Given the description of an element on the screen output the (x, y) to click on. 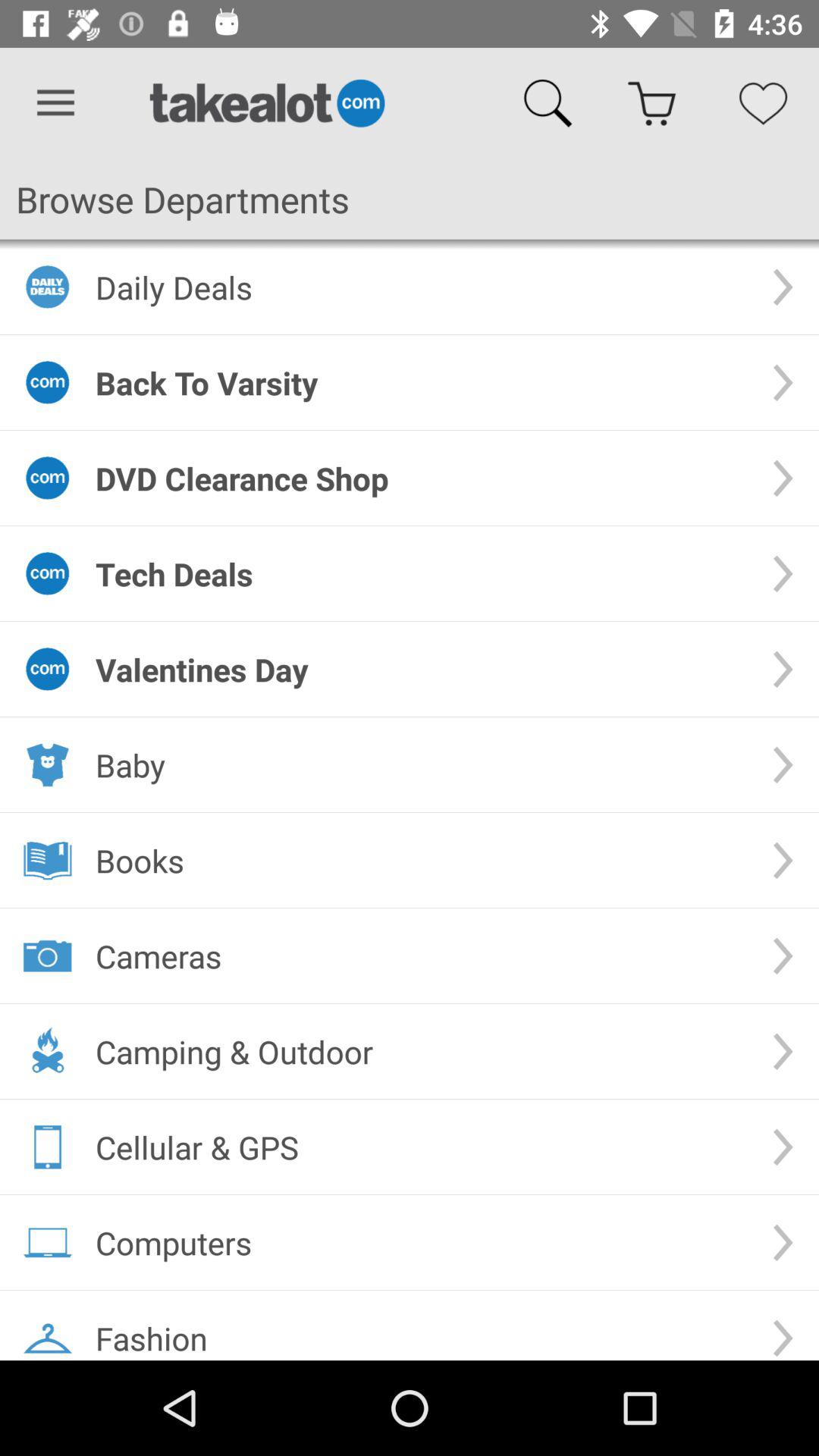
jump until the valentines day icon (421, 669)
